Given the description of an element on the screen output the (x, y) to click on. 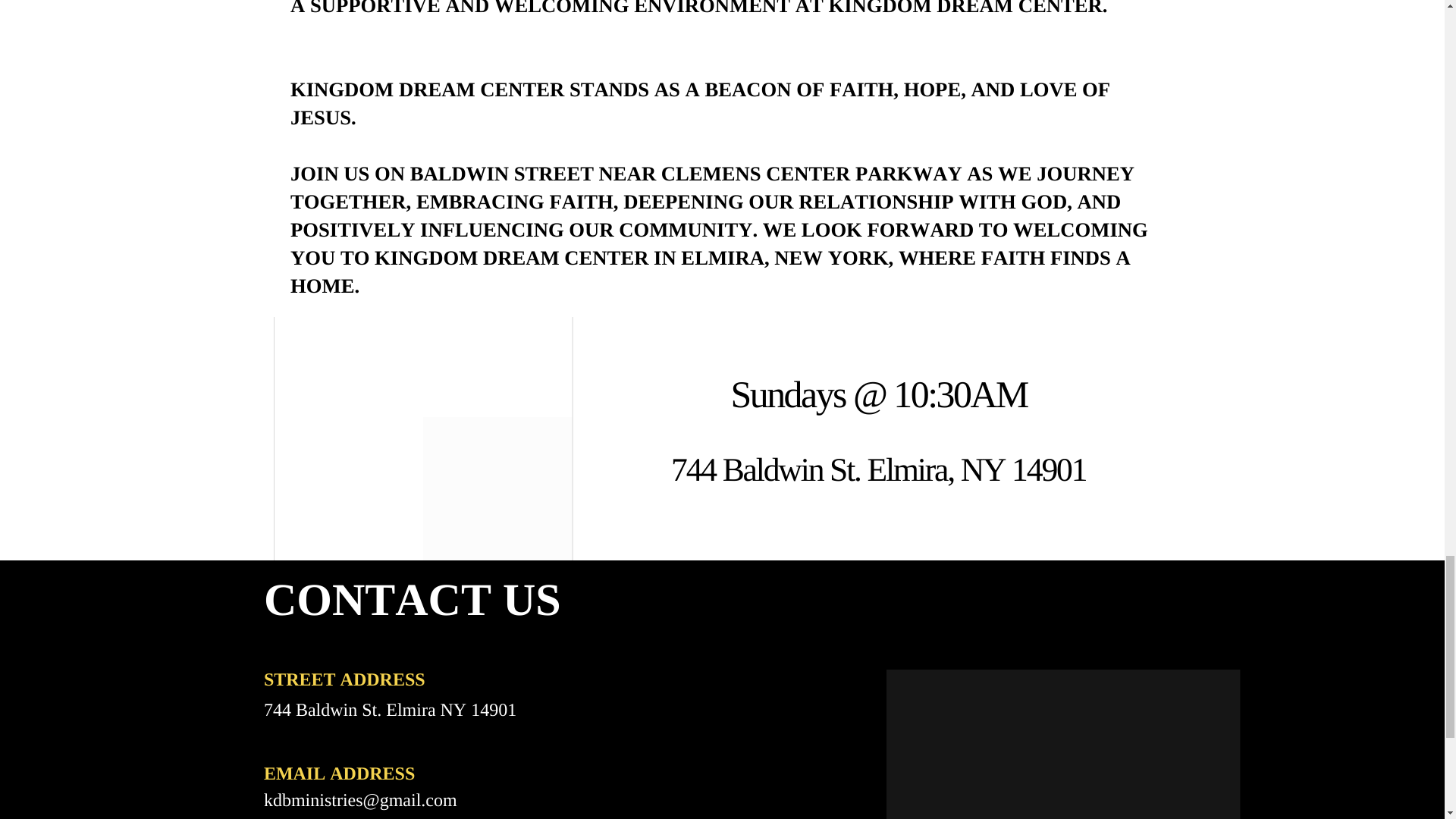
STREET ADDRESS (344, 680)
744 Baldwin St. Elmira, NY 14901 (878, 470)
744 Baldwin St. Elmira NY 14901 (389, 710)
